Given the description of an element on the screen output the (x, y) to click on. 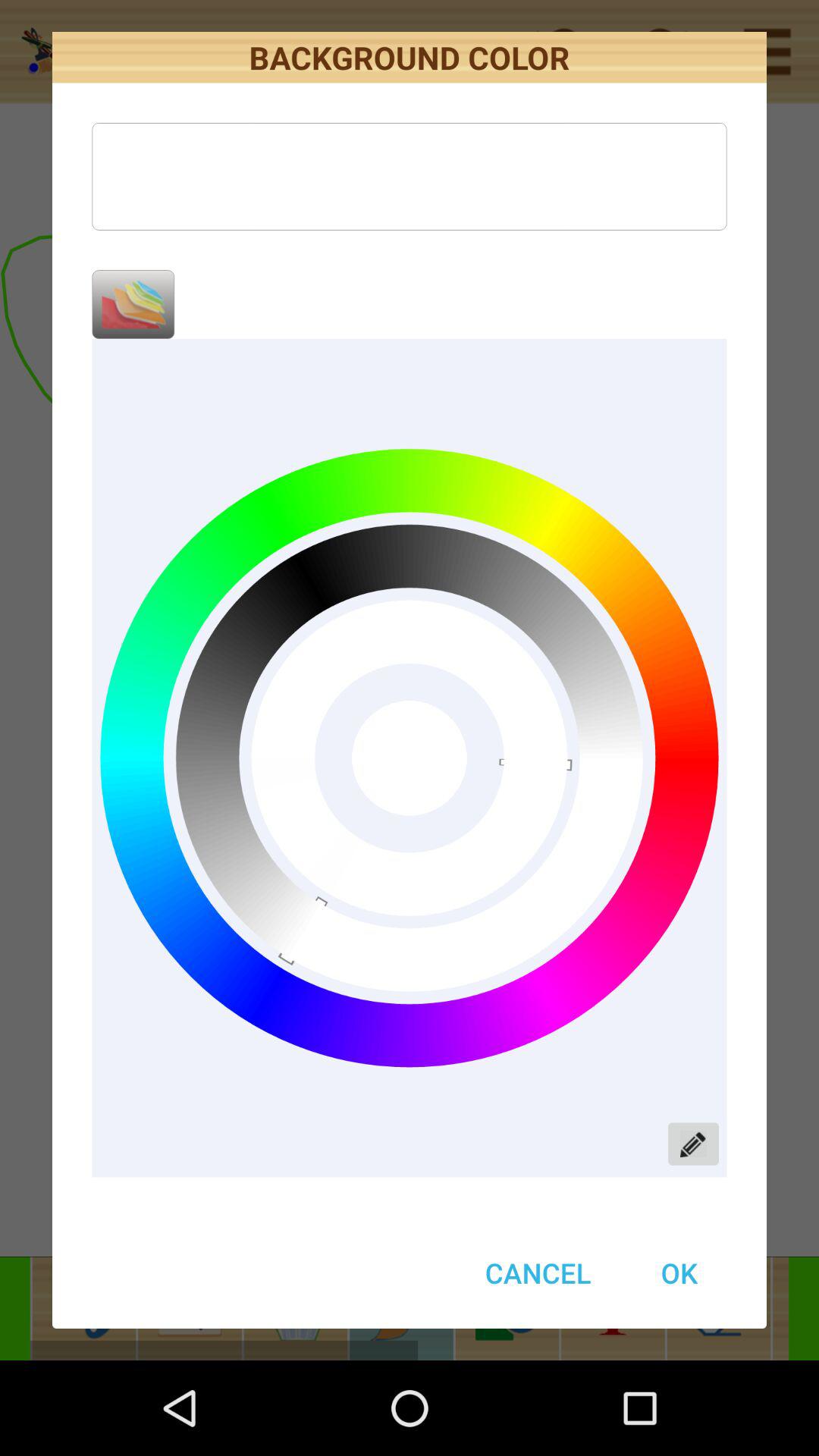
select item to the left of the ok icon (538, 1272)
